Given the description of an element on the screen output the (x, y) to click on. 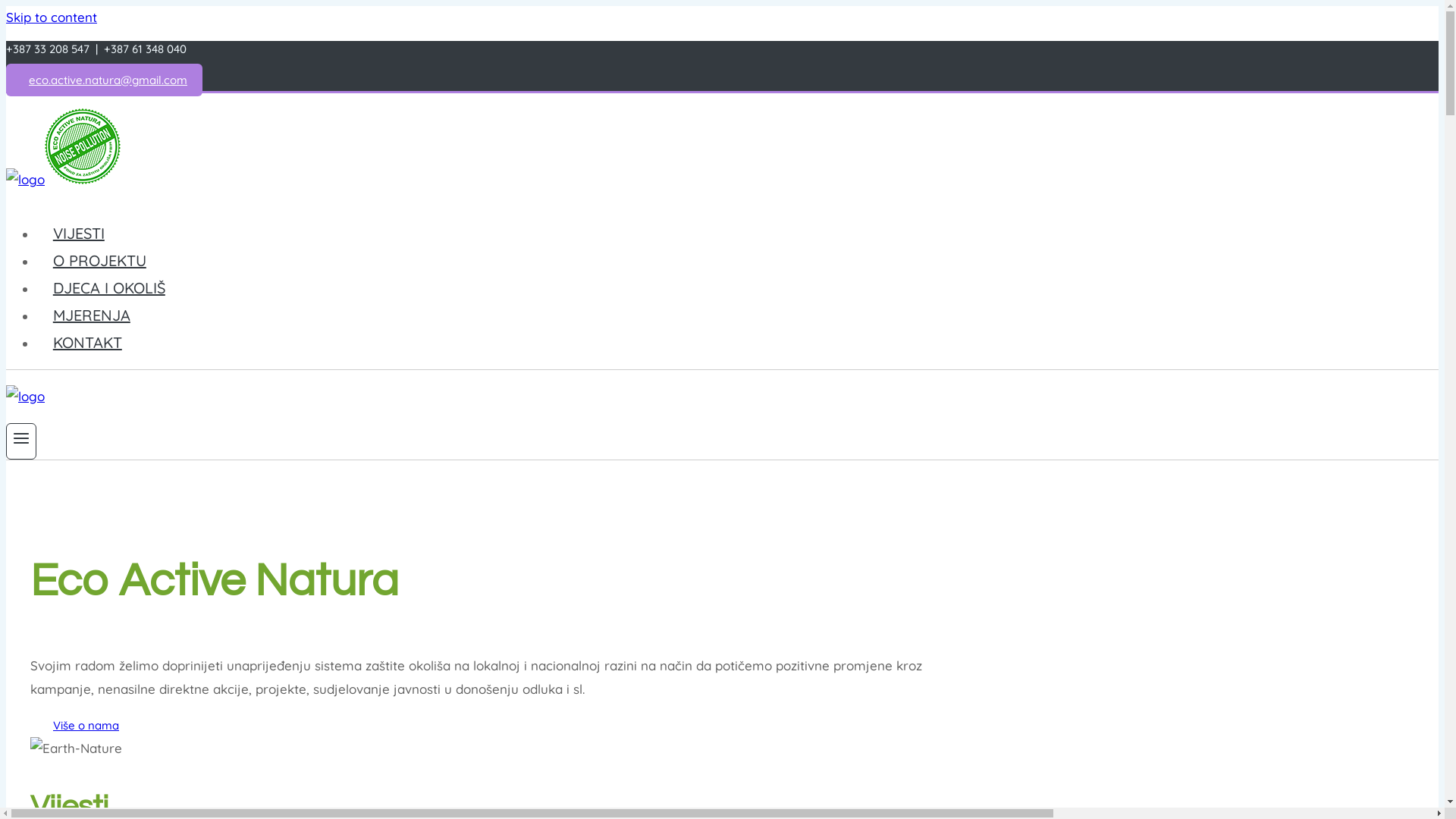
eco.active.natura@gmail.com Element type: text (104, 79)
Toggle Menu Element type: text (21, 441)
KONTAKT Element type: text (87, 342)
VIJESTI Element type: text (78, 233)
Skip to content Element type: text (51, 17)
O PROJEKTU Element type: text (99, 260)
MJERENJA Element type: text (91, 315)
